Given the description of an element on the screen output the (x, y) to click on. 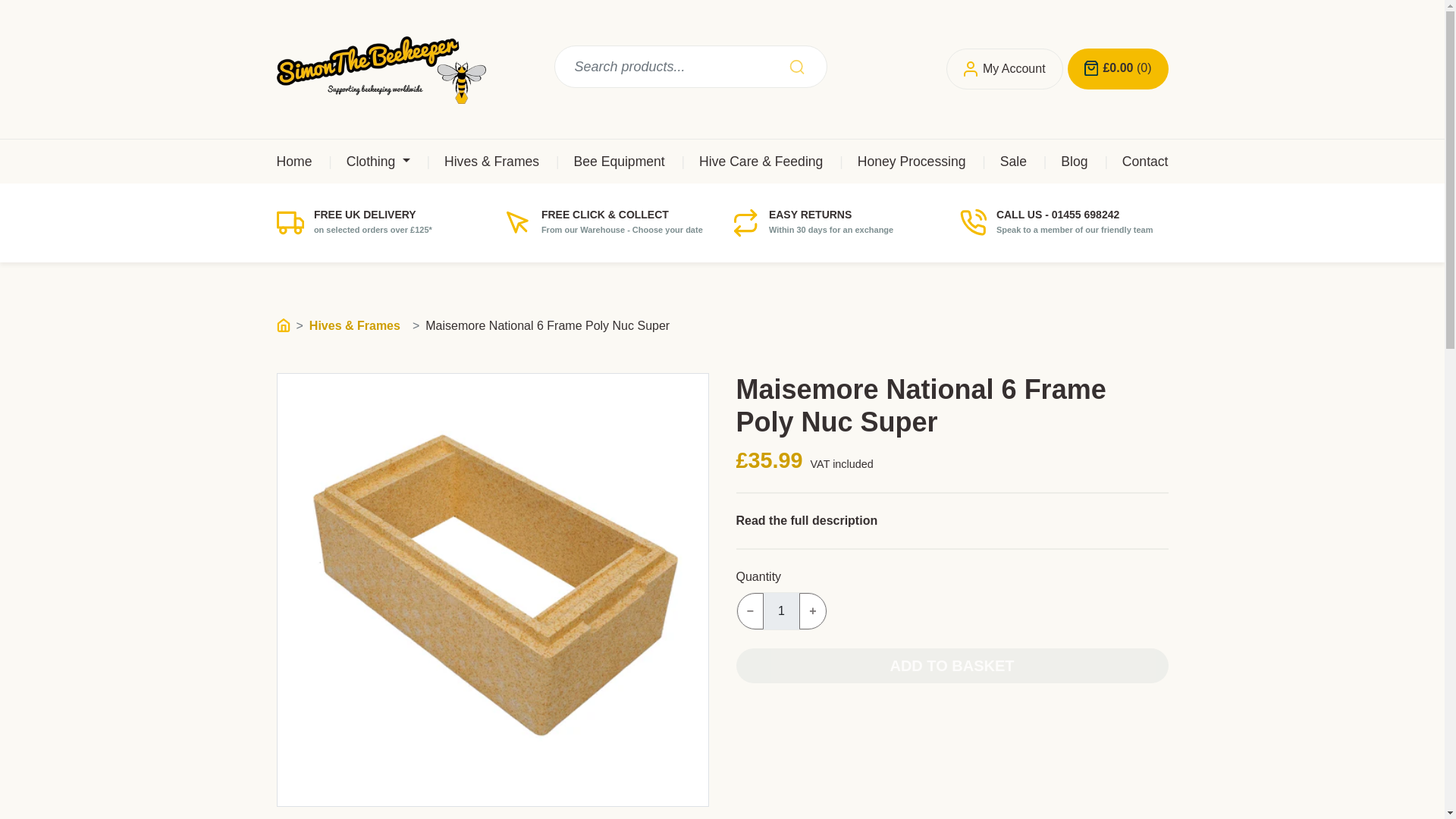
My Account (1004, 68)
Honey Processing (896, 161)
Bee Equipment (604, 161)
Clothing (363, 161)
Read the full description (835, 229)
Blog (806, 520)
Contact (1059, 161)
Sale (1130, 161)
1 (998, 161)
